Given the description of an element on the screen output the (x, y) to click on. 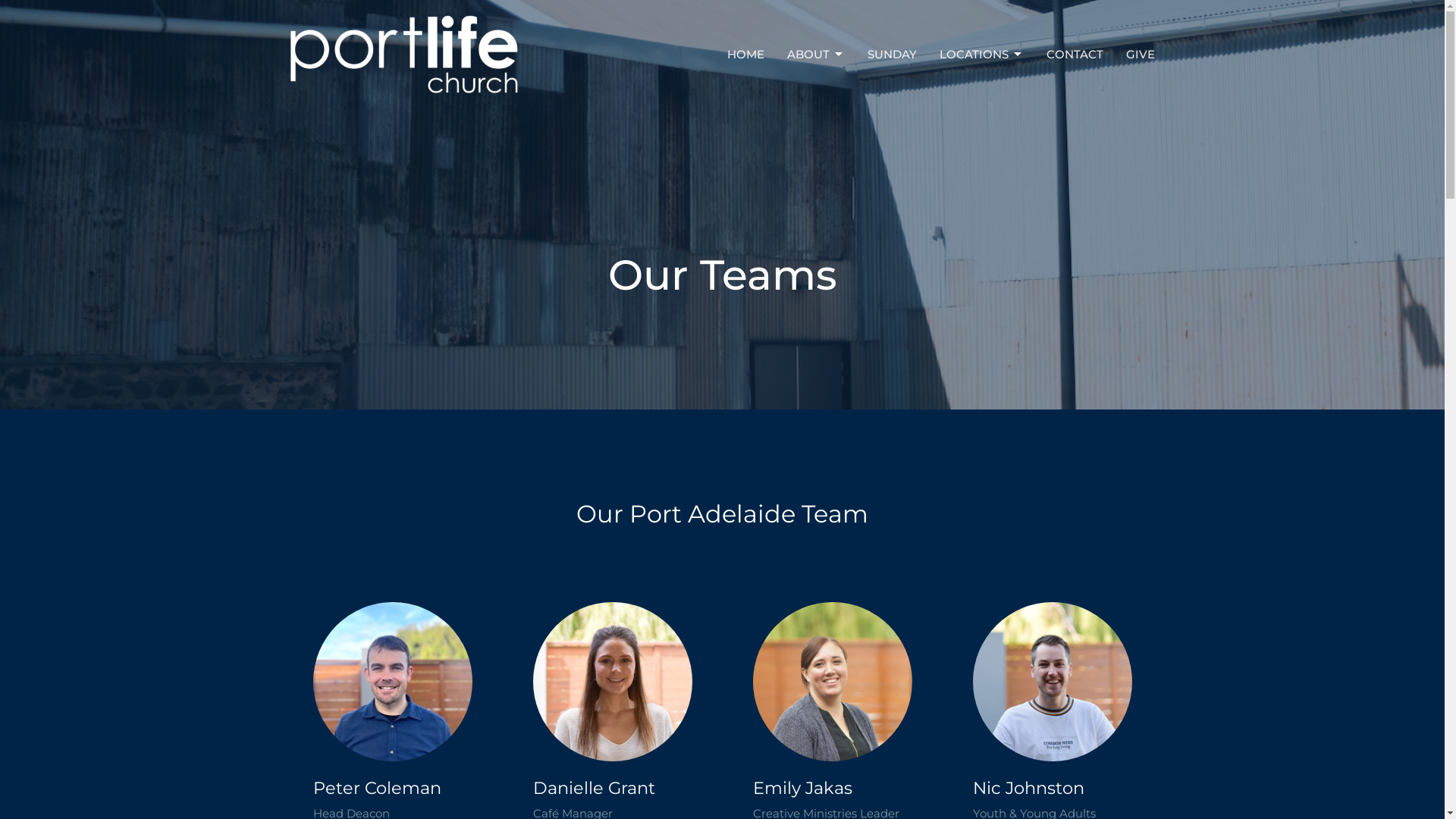
CONTACT Element type: text (1074, 53)
ABOUT Element type: text (815, 53)
HOME Element type: text (744, 53)
LOCATIONS Element type: text (980, 53)
GIVE Element type: text (1139, 53)
SUNDAY Element type: text (891, 53)
